Given the description of an element on the screen output the (x, y) to click on. 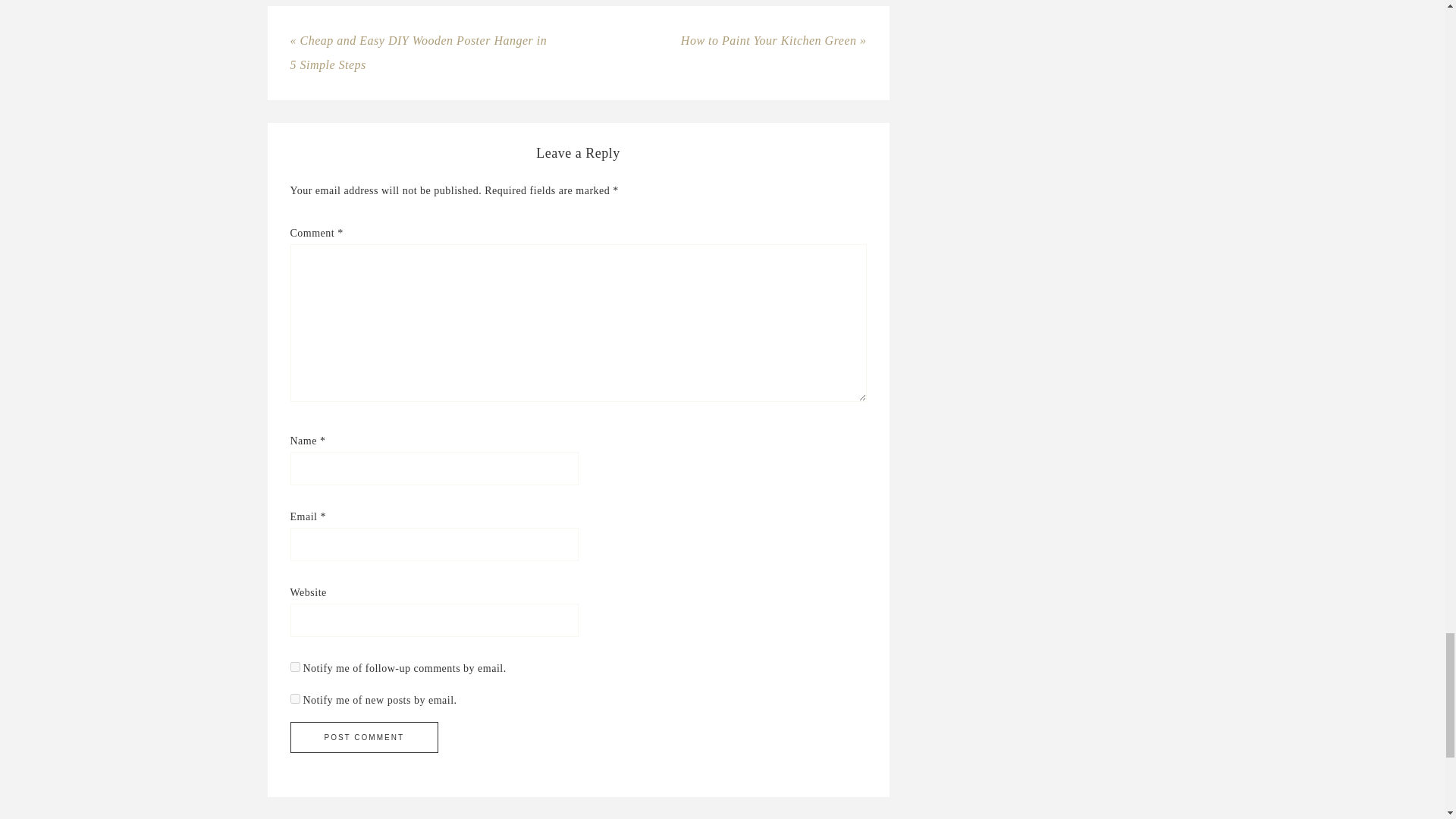
subscribe (294, 666)
subscribe (294, 698)
Post Comment (363, 736)
Post Comment (363, 736)
